Given the description of an element on the screen output the (x, y) to click on. 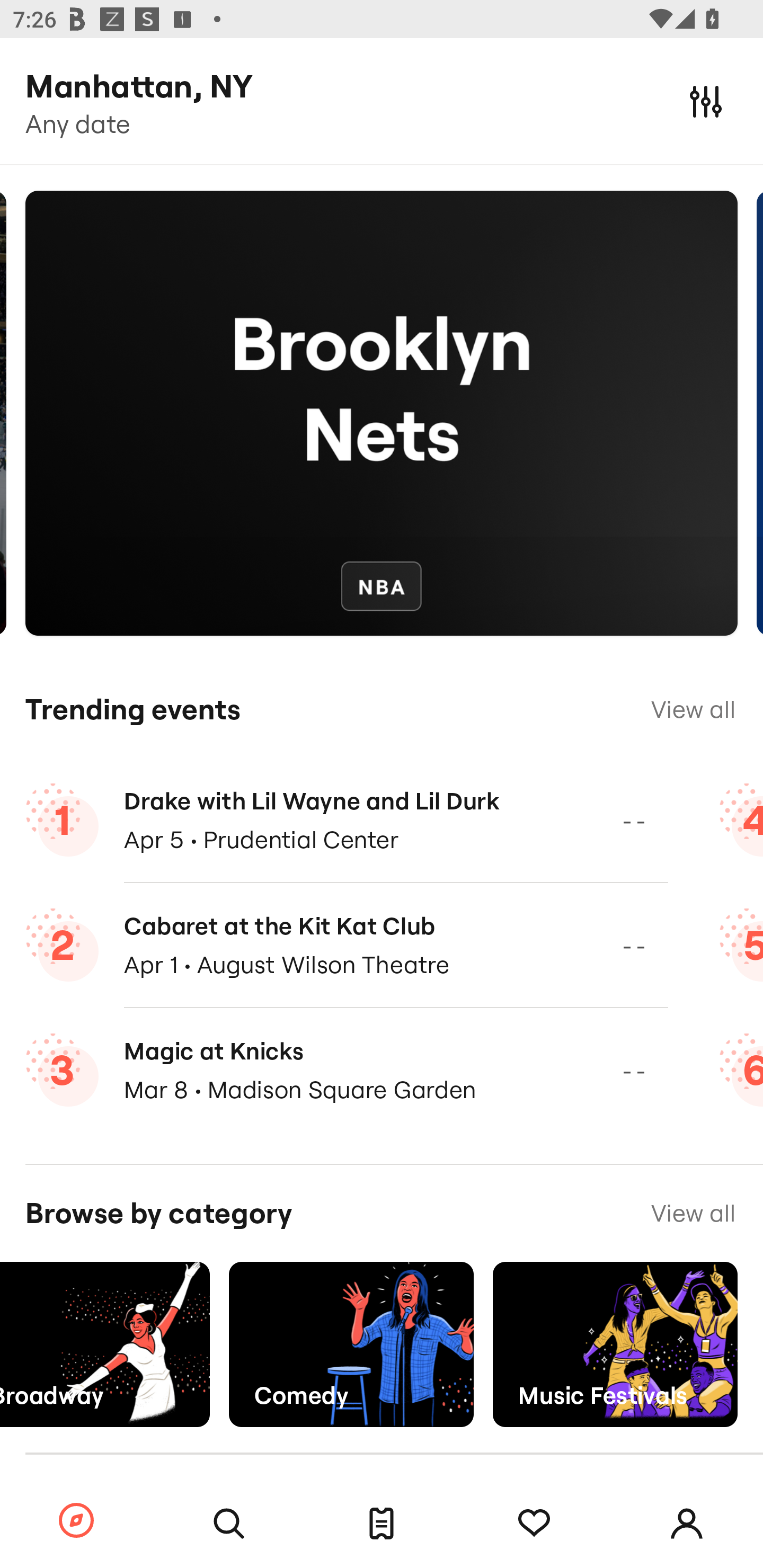
Filters (705, 100)
View all (693, 709)
View all (693, 1213)
Broadway (104, 1344)
Comedy (350, 1344)
Music Festivals (614, 1344)
Browse (76, 1521)
Search (228, 1523)
Tickets (381, 1523)
Tracking (533, 1523)
Account (686, 1523)
